Given the description of an element on the screen output the (x, y) to click on. 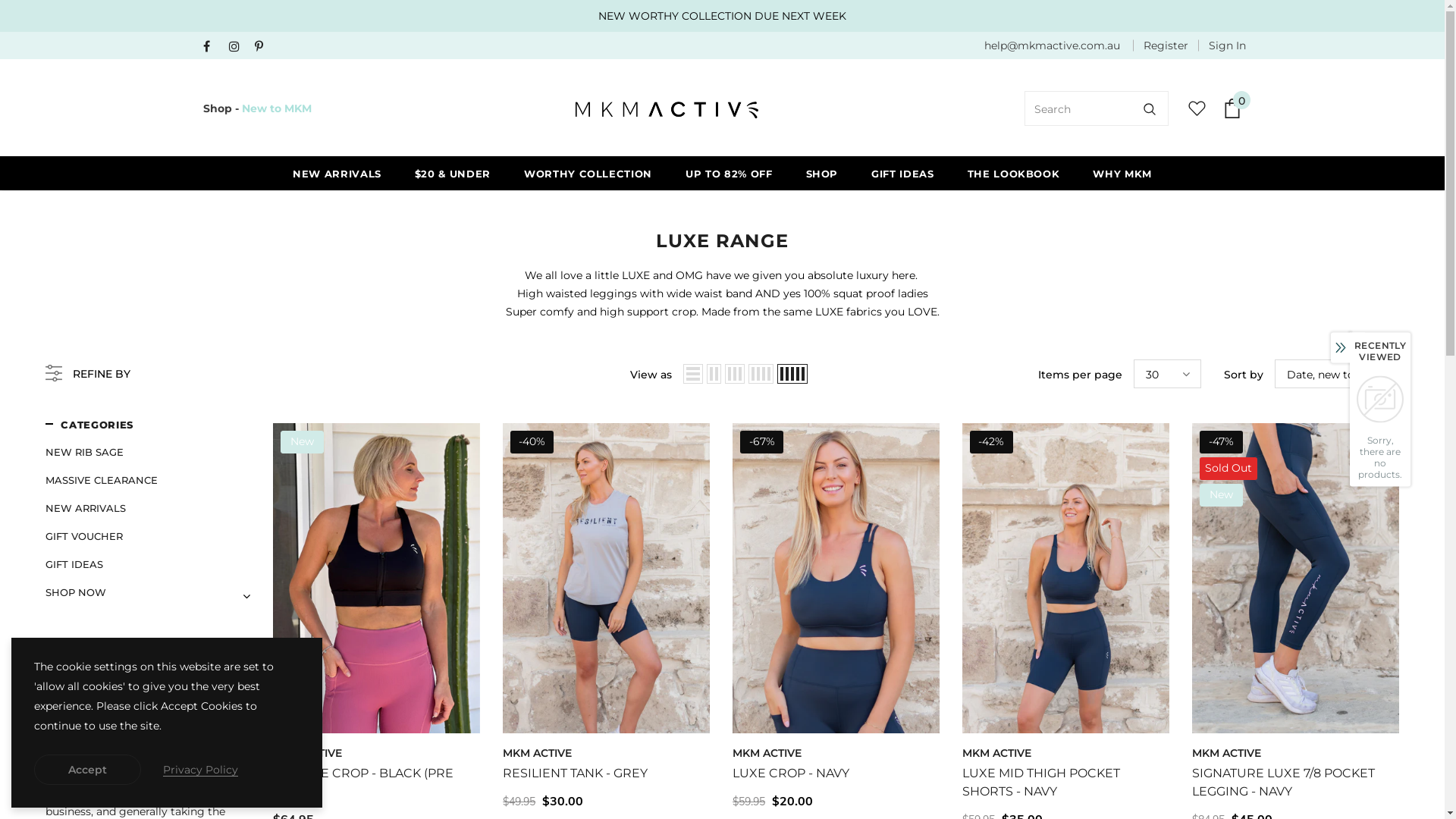
SHOP Element type: text (821, 173)
GIFT VOUCHER Element type: text (83, 536)
MKM ACTIVE Element type: text (307, 752)
New to MKM Element type: text (275, 108)
WORTHY COLLECTION Element type: text (588, 173)
LUXE MID THIGH POCKET SHORTS - NAVY Element type: text (1065, 782)
NEW RIB SAGE Element type: text (84, 451)
SIGNATURE LUXE 7/8 POCKET LEGGING - NAVY Element type: text (1295, 782)
Logo Element type: hover (667, 107)
ZIP LUXE CROP - BLACK (PRE ORDER) Element type: text (376, 782)
NEW ARRIVALS Element type: text (336, 173)
UP TO 82% OFF Element type: text (728, 173)
MKM ACTIVE Element type: text (996, 752)
Accept Element type: text (87, 769)
Register Element type: text (1165, 45)
GIFT IDEAS Element type: text (74, 564)
Instagram Element type: hover (238, 46)
WHY MKM Element type: text (1121, 173)
0 Element type: text (1232, 108)
LUXE CROP - NAVY Element type: text (835, 773)
MKM ACTIVE Element type: text (536, 752)
Privacy Policy Element type: text (200, 769)
$20 & UNDER Element type: text (452, 173)
SHOP NOW Element type: text (75, 592)
MASSIVE CLEARANCE Element type: text (101, 479)
GIFT IDEAS Element type: text (902, 173)
RESILIENT TANK - GREY Element type: text (605, 773)
MKM ACTIVE Element type: text (1226, 752)
Sign In Element type: text (1221, 45)
Pinterest Element type: hover (263, 46)
THE LOOKBOOK Element type: text (1013, 173)
MKM ACTIVE Element type: text (766, 752)
Facebook Element type: hover (212, 46)
NEW ARRIVALS Element type: text (85, 507)
